Given the description of an element on the screen output the (x, y) to click on. 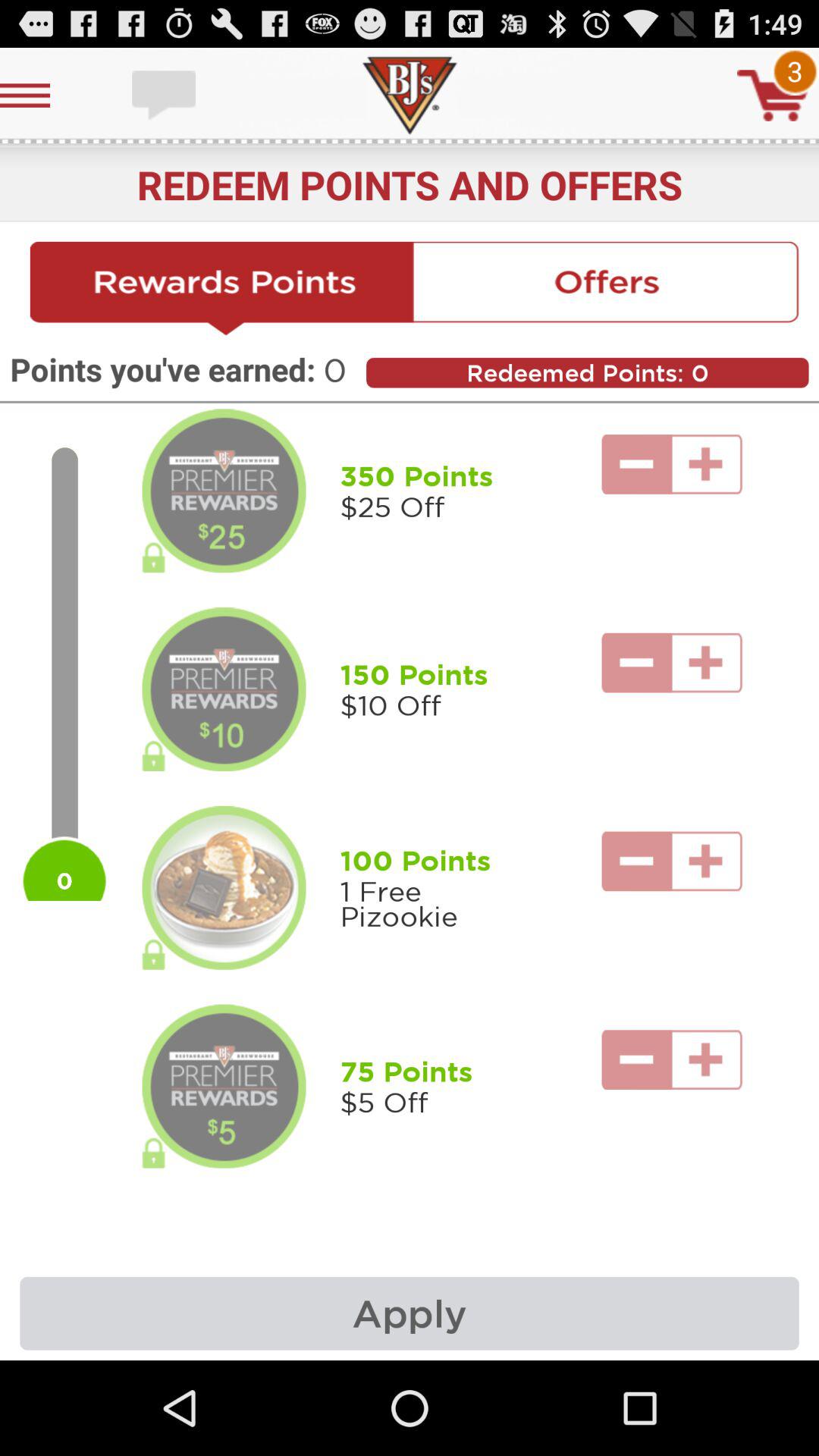
take to description of the item (223, 491)
